Given the description of an element on the screen output the (x, y) to click on. 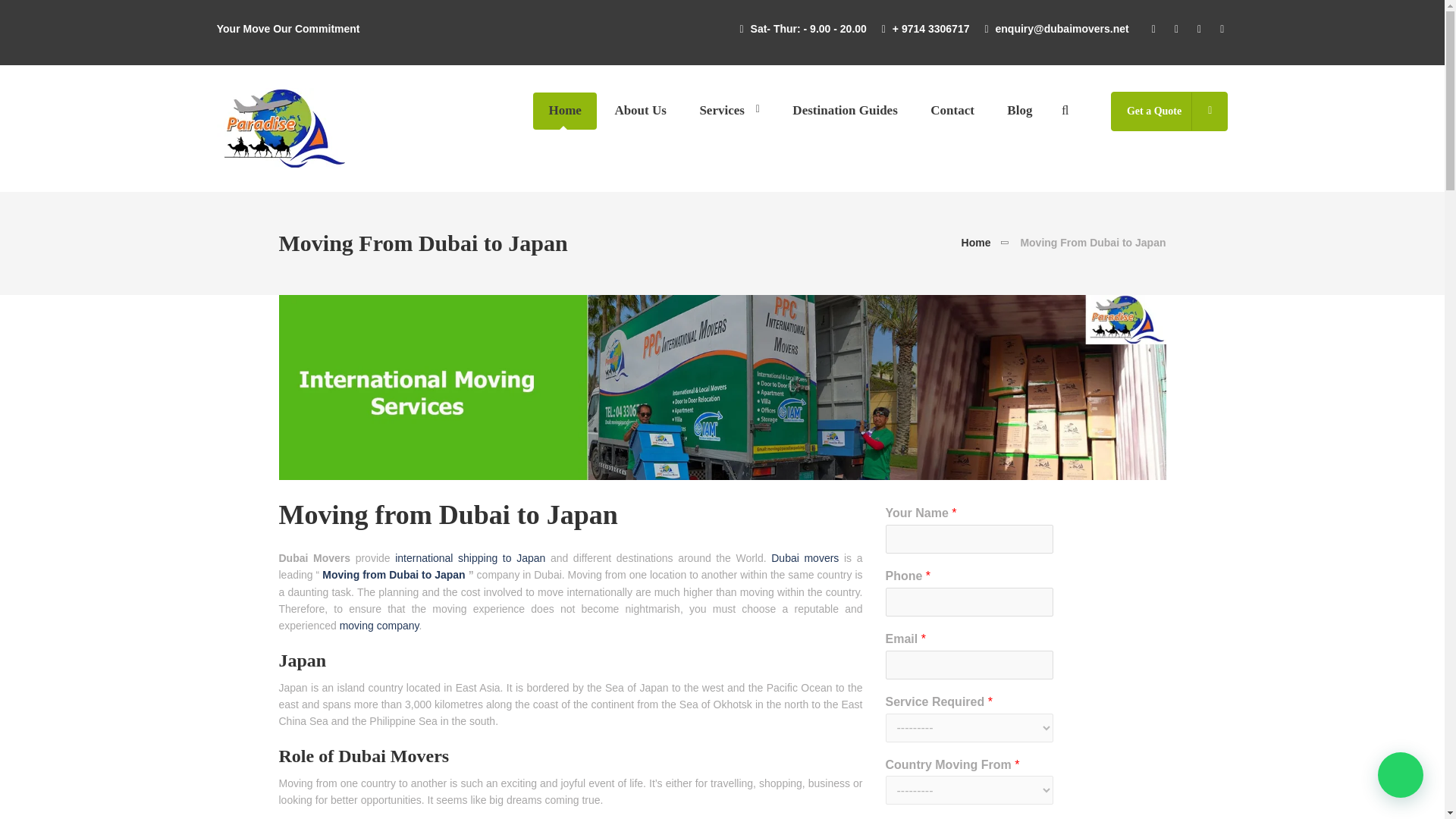
international shipping to Japan (469, 558)
Dubai movers (804, 558)
About Us (639, 110)
Blog (1018, 110)
Twitter (1178, 28)
Facebook (1155, 28)
Google Plus (1200, 28)
Instagram (1219, 28)
Contact (952, 110)
moving company (379, 625)
Home (975, 242)
Services (729, 110)
Moving from Dubai to Japan (392, 574)
Home (563, 110)
Destination Guides (844, 110)
